Given the description of an element on the screen output the (x, y) to click on. 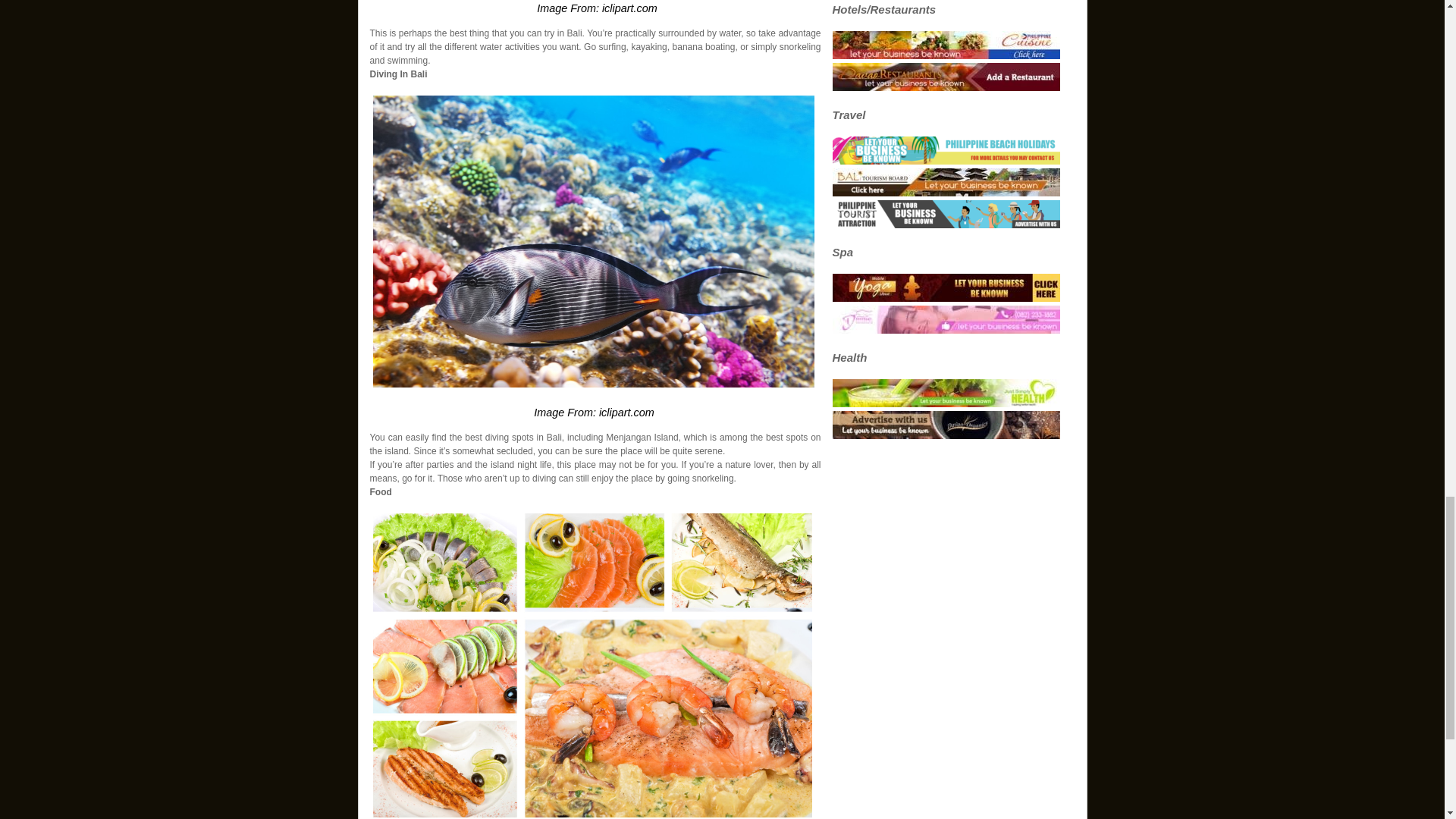
bali travel tips and advice (592, 241)
